Given the description of an element on the screen output the (x, y) to click on. 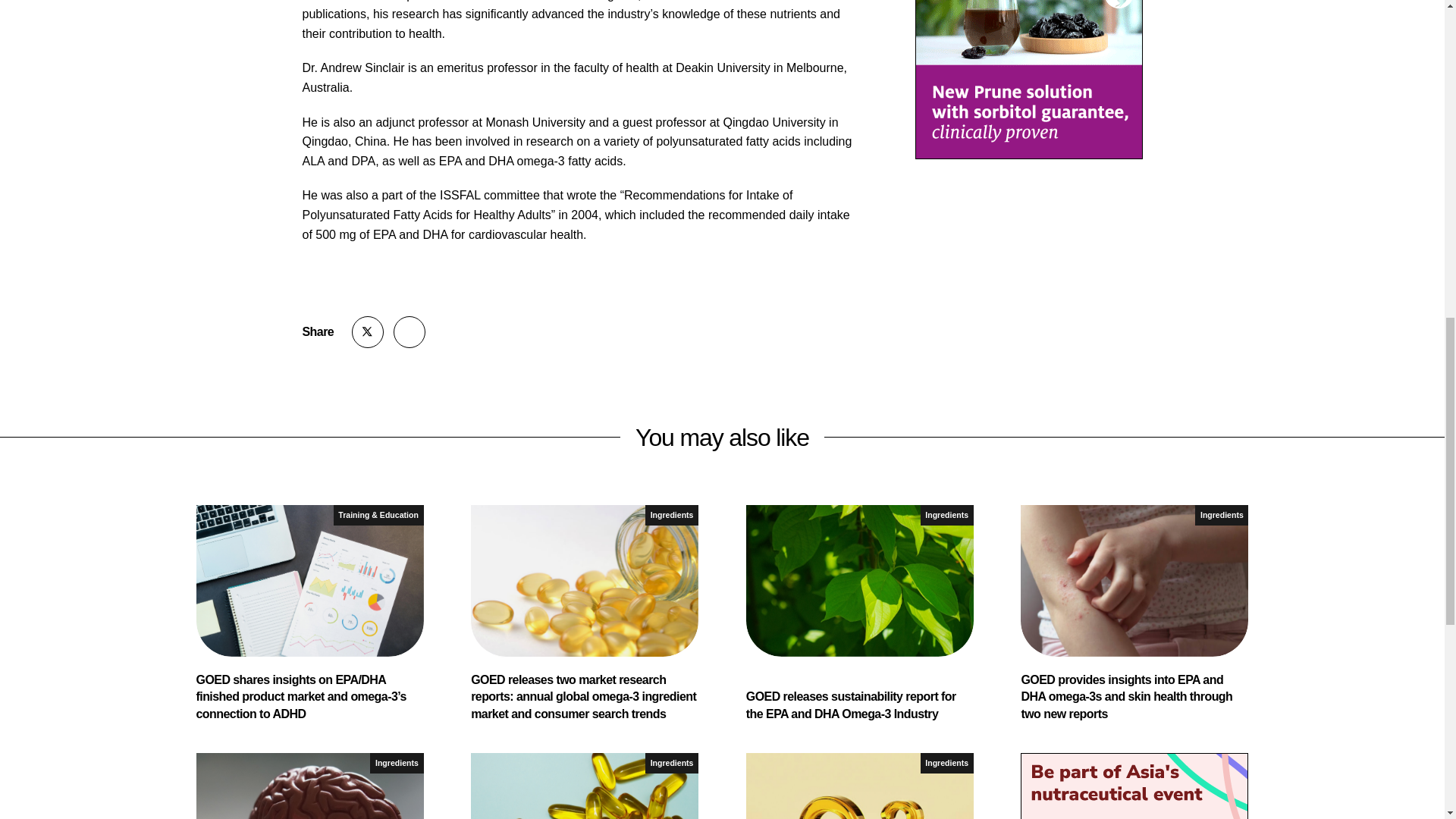
GOED and NASC launch strategic partnership (584, 785)
Ingredients (947, 515)
X (368, 332)
Ingredients (396, 762)
Omega-3 Industry set to celebrating global omega-3 day (859, 785)
LinkedIn (409, 332)
Ingredients (947, 762)
GOED publishes brain health report (309, 785)
Ingredients (671, 515)
Follow Nutraceutical Business Review on X (368, 332)
Ingredients (671, 762)
Follow Nutraceutical Business Review on LinkedIn (409, 332)
Ingredients (1221, 515)
